Given the description of an element on the screen output the (x, y) to click on. 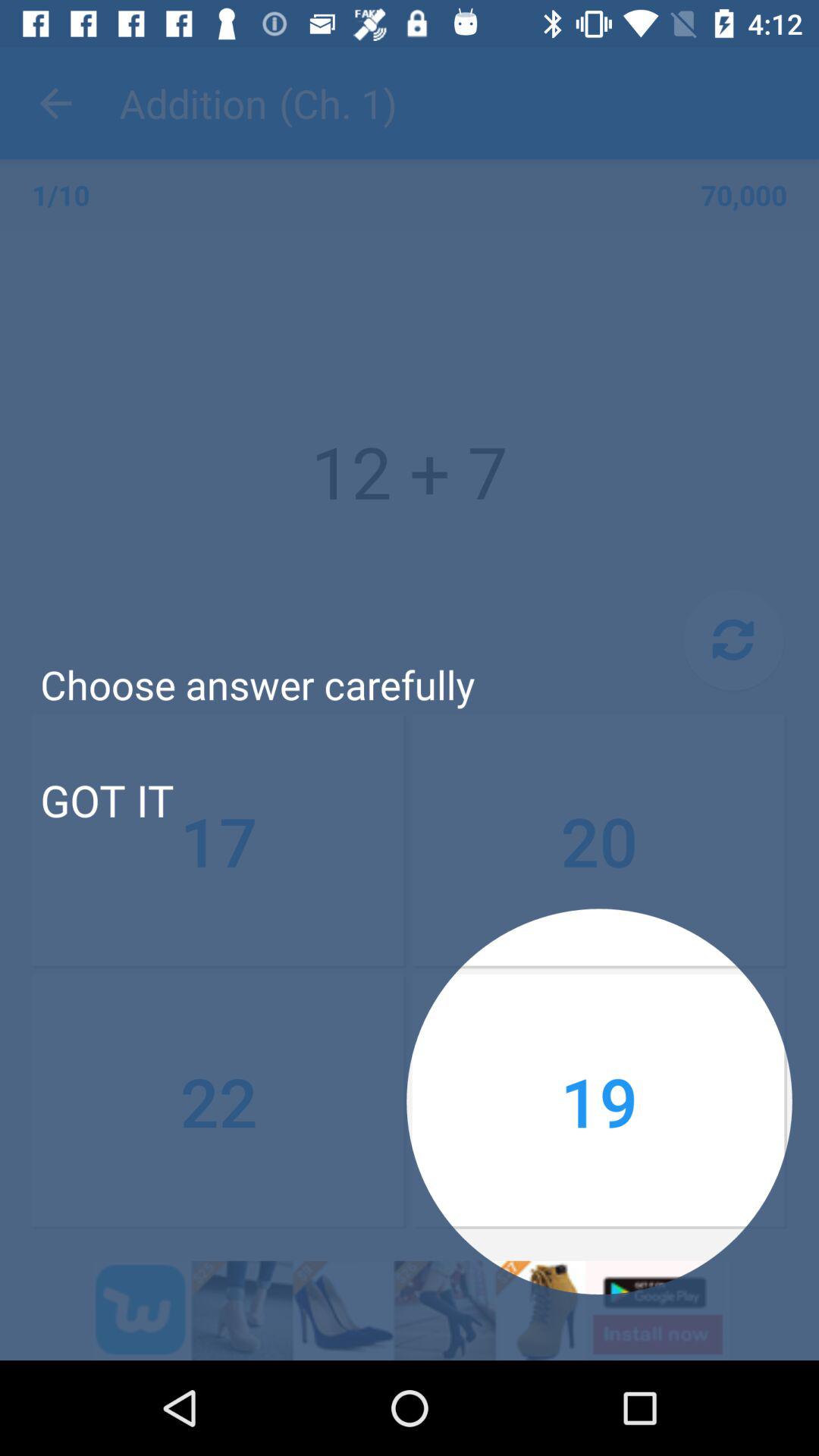
select the item above the 1/10 (55, 103)
